Given the description of an element on the screen output the (x, y) to click on. 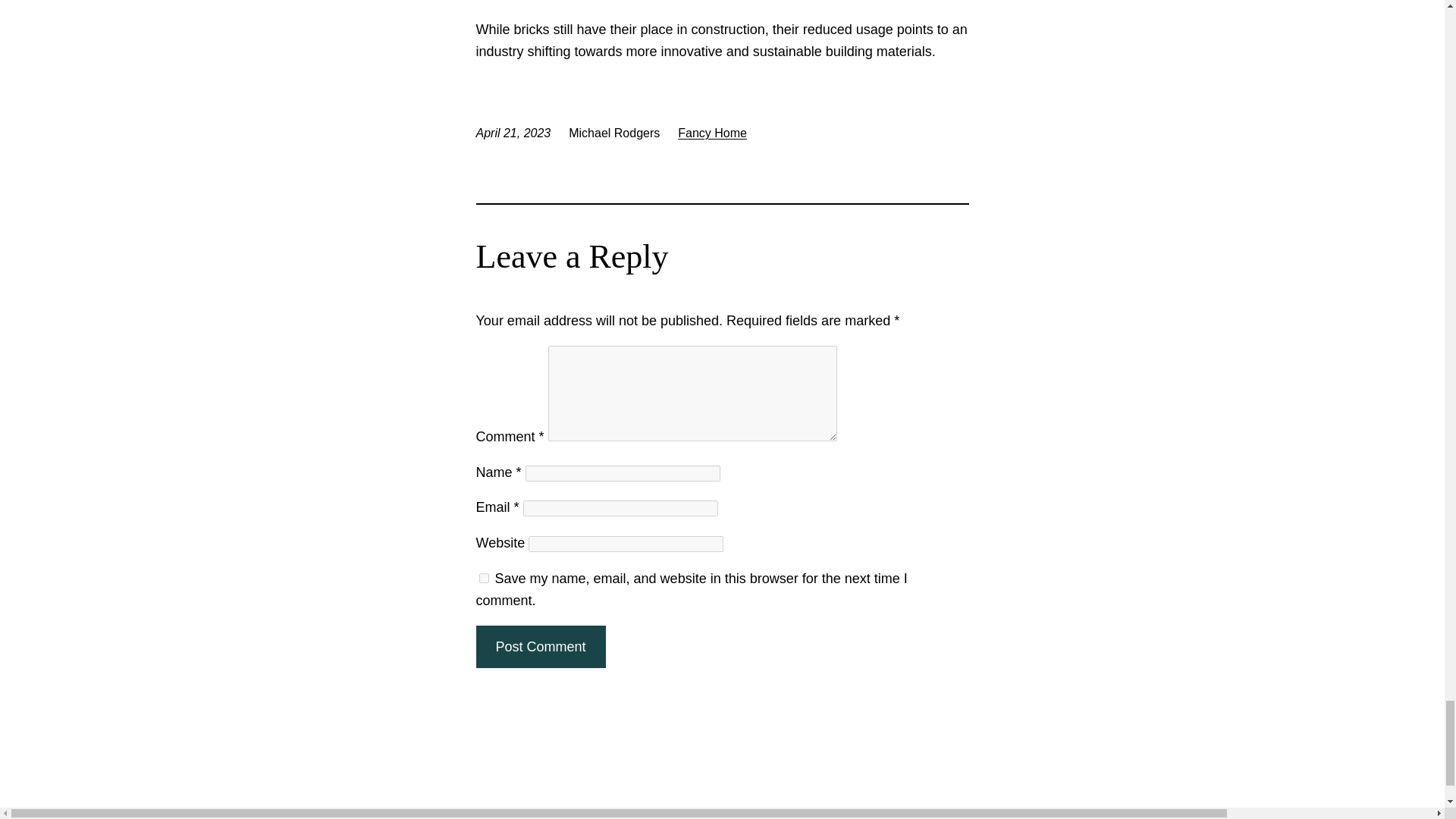
Fancy Home (712, 132)
Post Comment (540, 647)
Post Comment (540, 647)
yes (484, 578)
